Given the description of an element on the screen output the (x, y) to click on. 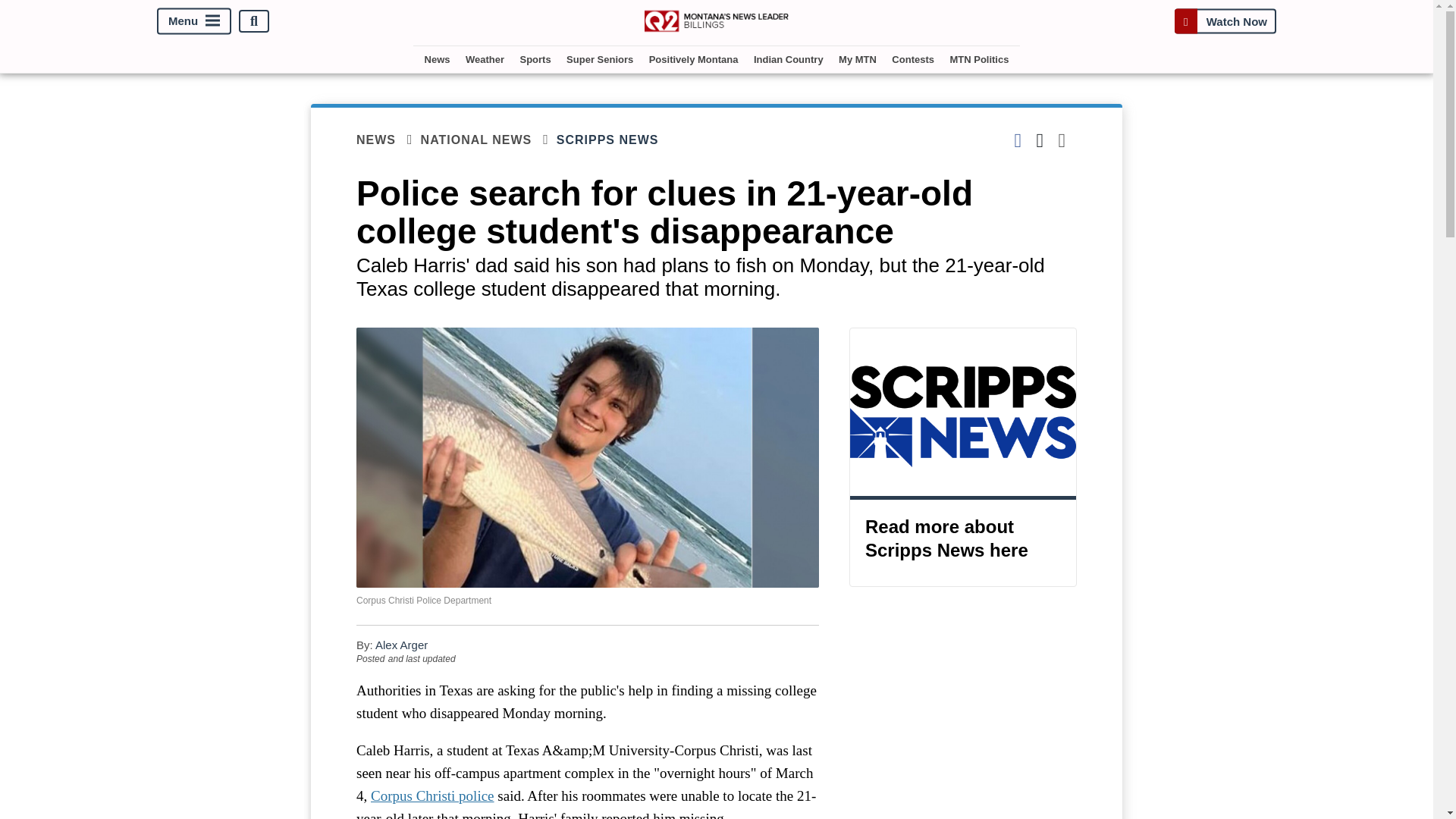
Watch Now (1224, 21)
Menu (194, 21)
